Given the description of an element on the screen output the (x, y) to click on. 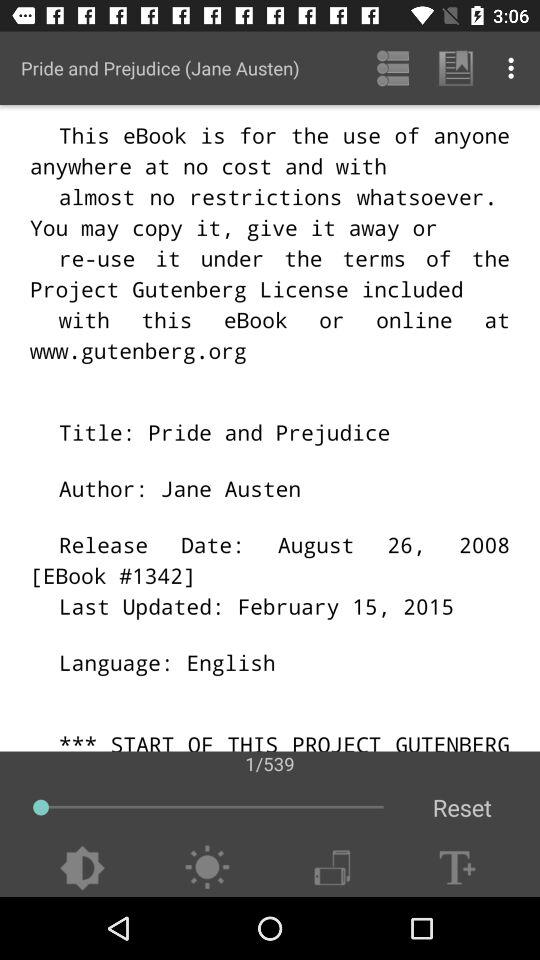
launch reset icon (462, 807)
